Given the description of an element on the screen output the (x, y) to click on. 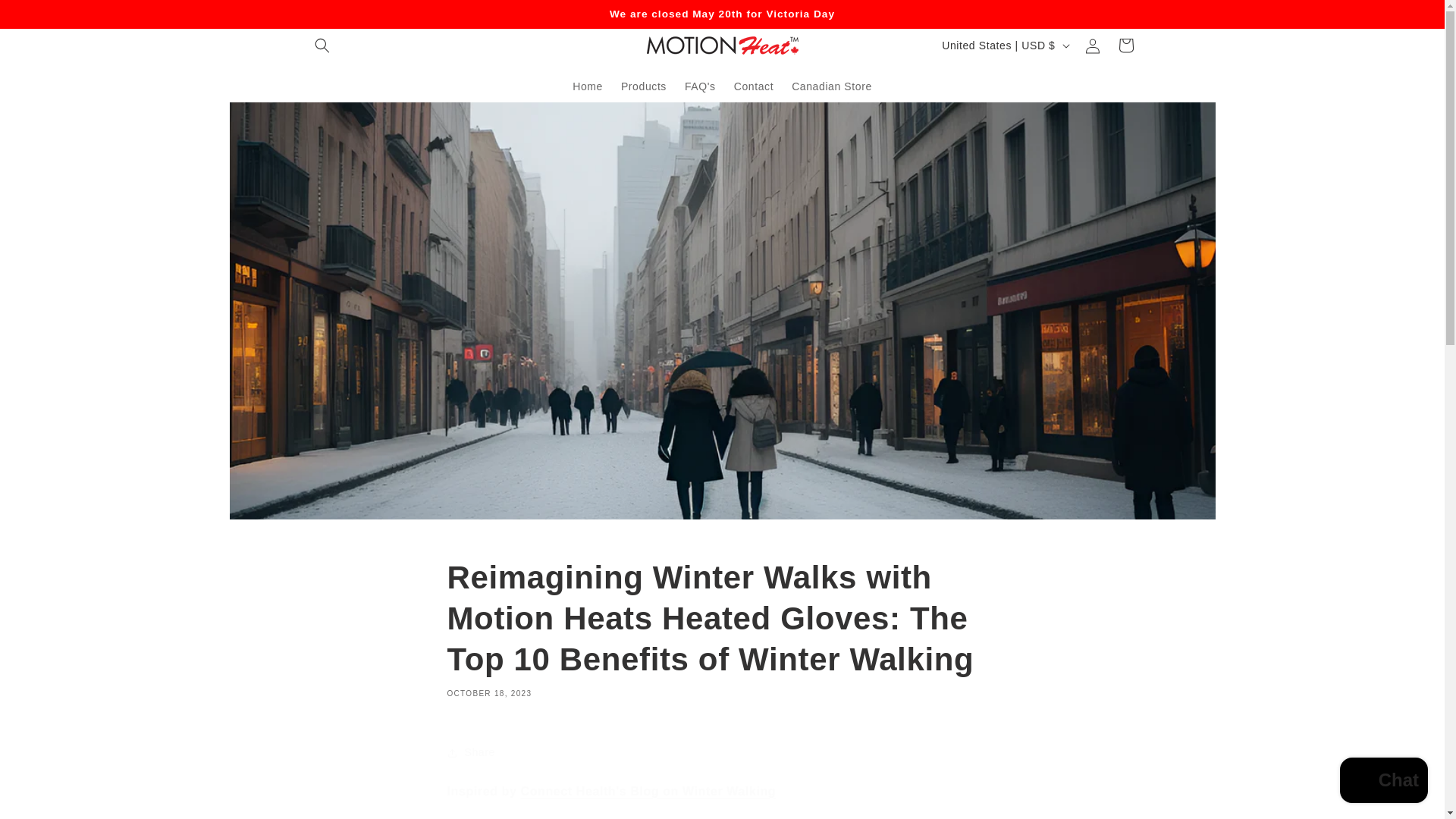
Log in (1091, 45)
Skip to content (45, 17)
Home (587, 85)
Cart (1124, 45)
FAQ's (700, 85)
Share (721, 752)
Canadian Store (831, 85)
Contact (754, 85)
Shopify online store chat (1383, 781)
